Given the description of an element on the screen output the (x, y) to click on. 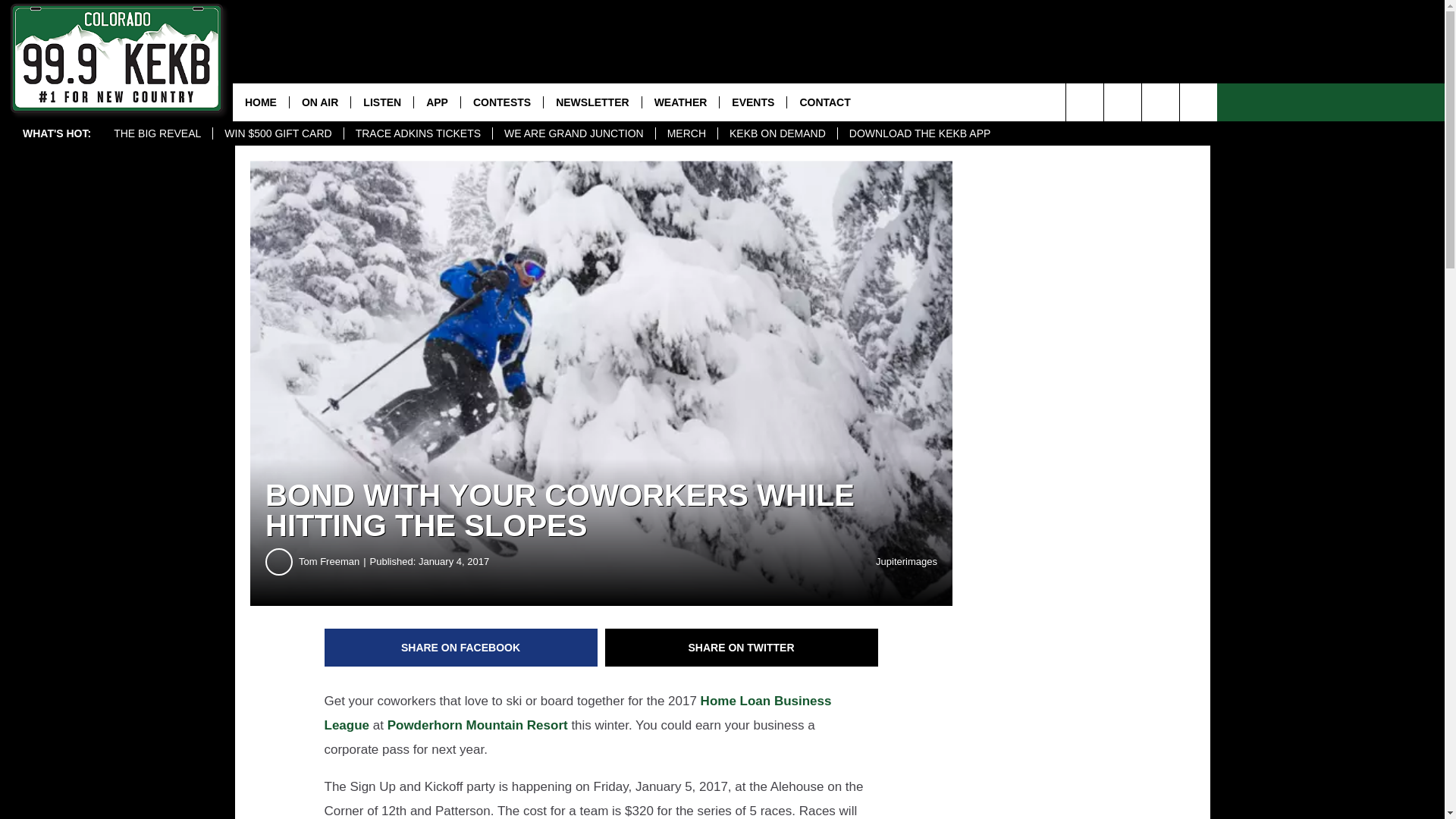
DOWNLOAD THE KEKB APP (919, 133)
Share on Facebook (460, 647)
EVENTS (752, 102)
WEATHER (680, 102)
WE ARE GRAND JUNCTION (573, 133)
CONTESTS (501, 102)
NEWSLETTER (591, 102)
TRACE ADKINS TICKETS (417, 133)
Share on Twitter (741, 647)
MERCH (686, 133)
